Given the description of an element on the screen output the (x, y) to click on. 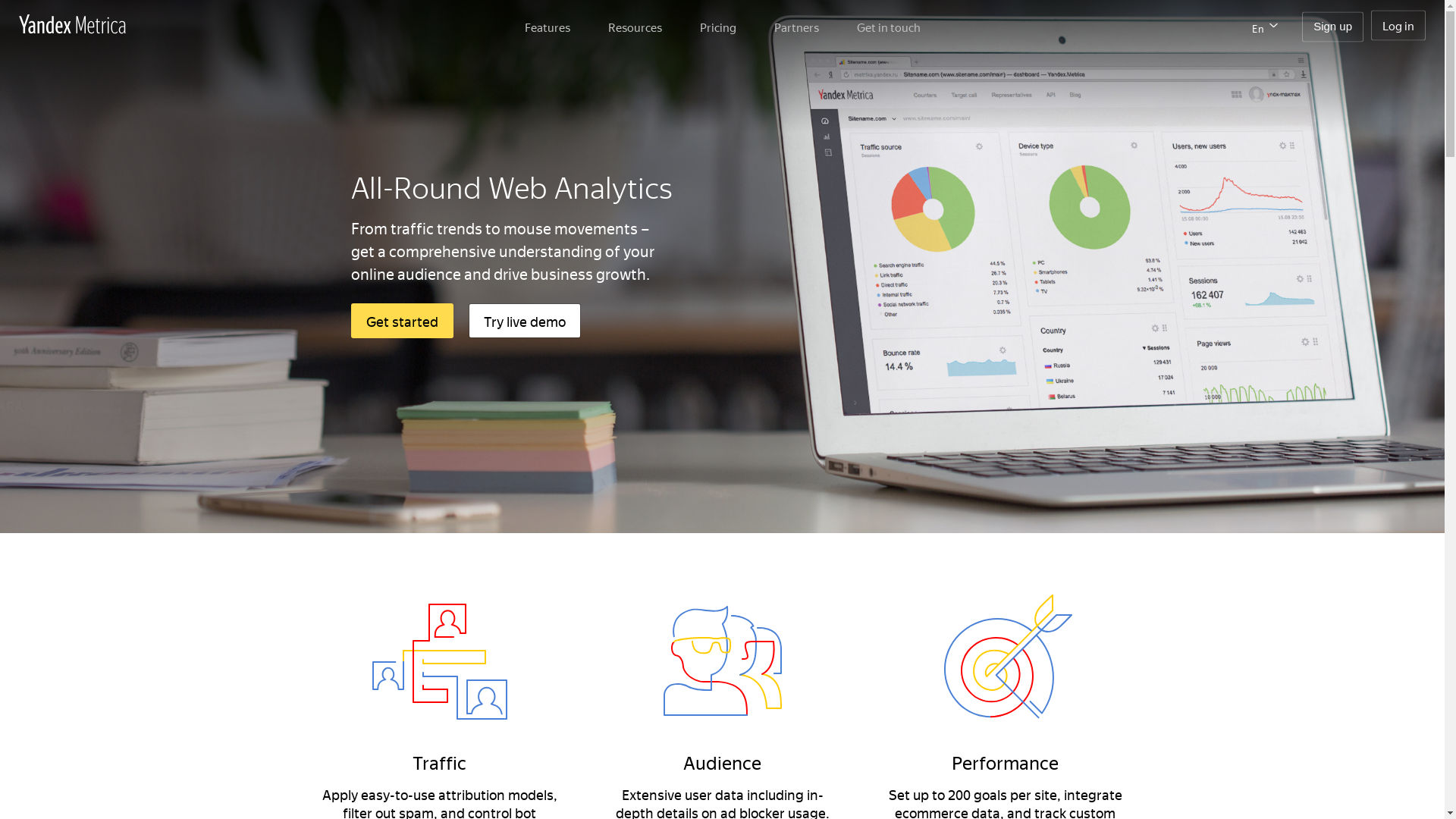
Log in Element type: text (1398, 24)
Features Element type: text (547, 27)
Sign up Element type: text (1332, 26)
Pricing Element type: text (717, 27)
Get started Element type: text (401, 320)
Try live demo Element type: text (524, 320)
Get in touch Element type: text (888, 27)
Partners Element type: text (795, 27)
